Given the description of an element on the screen output the (x, y) to click on. 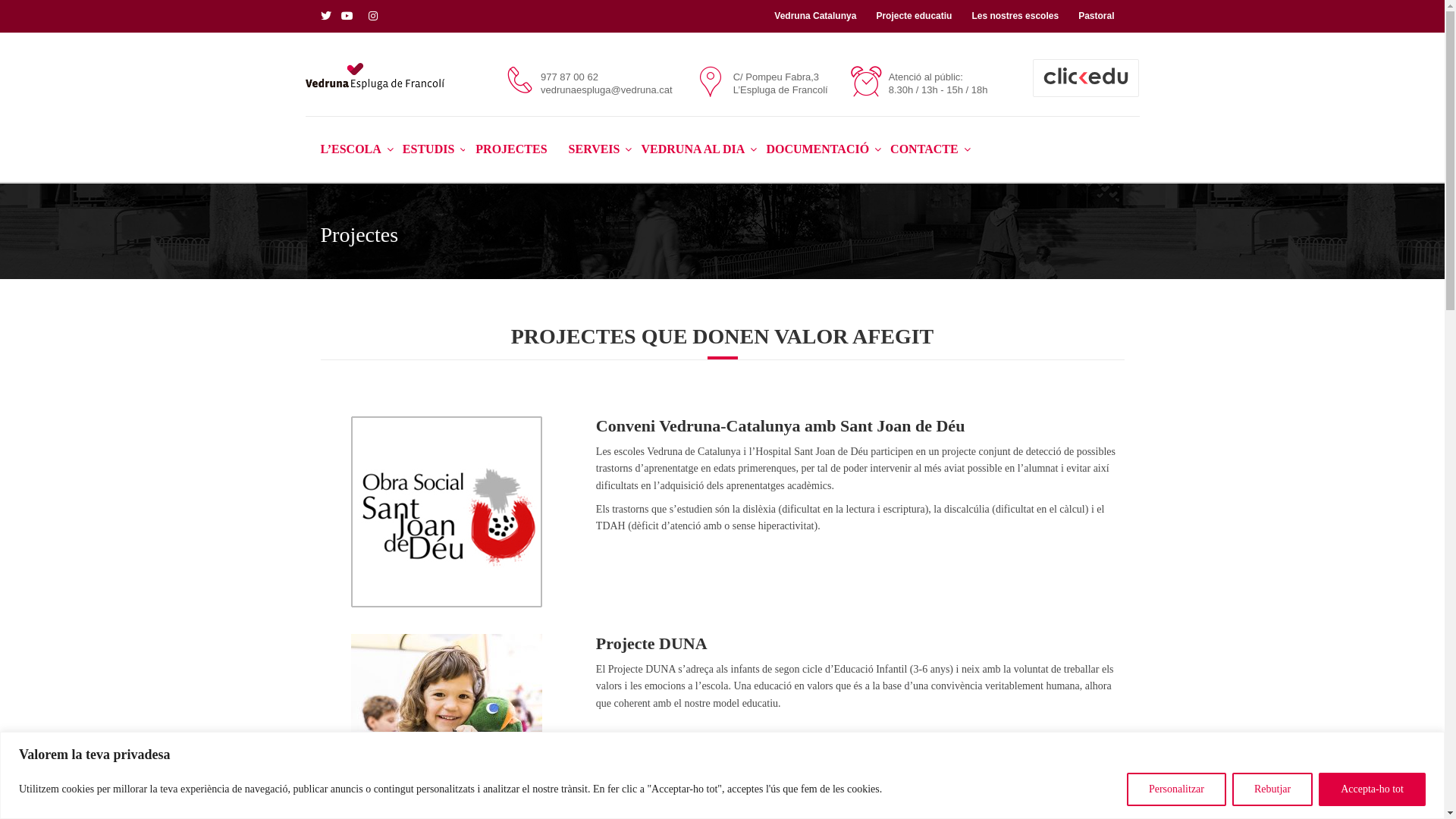
Les nostres escoles Element type: text (1014, 15)
ESTUDIS Element type: text (428, 149)
Personalitzar Element type: text (1176, 788)
VEDRUNA AL DIA Element type: text (692, 149)
santjoandeu Element type: hover (446, 511)
Vedruna Catalunya Element type: text (815, 15)
SERVEIS Element type: text (594, 149)
Accepta-ho tot Element type: text (1371, 788)
PROJECTES Element type: text (510, 149)
Pastoral Element type: text (1095, 15)
Rebutjar Element type: text (1272, 788)
CONTACTE Element type: text (924, 149)
Projecte educatiu Element type: text (913, 15)
